Given the description of an element on the screen output the (x, y) to click on. 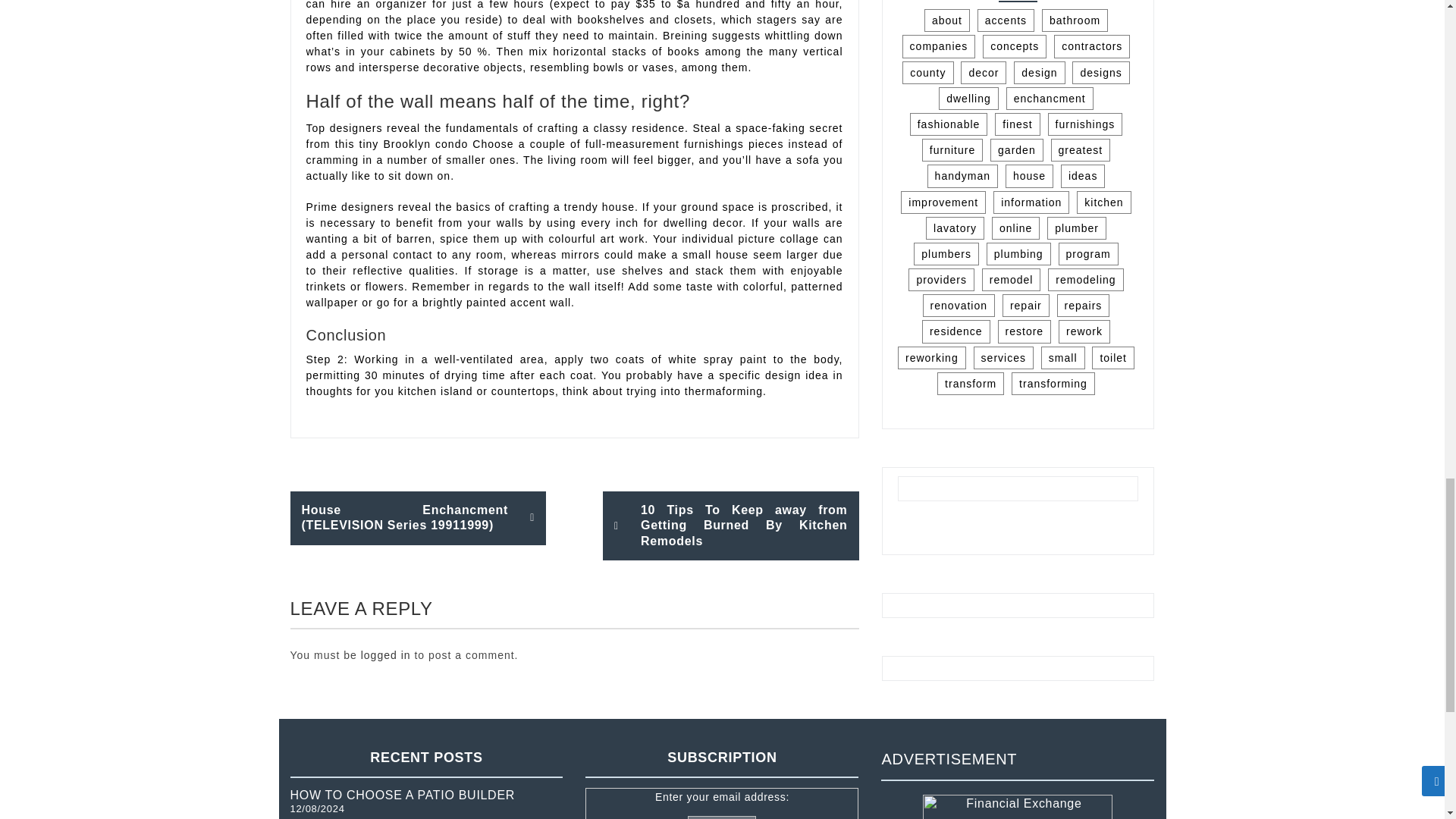
Financial Exchange (1017, 806)
logged in (385, 654)
10 Tips To Keep away from Getting Burned By Kitchen Remodels (730, 525)
